Given the description of an element on the screen output the (x, y) to click on. 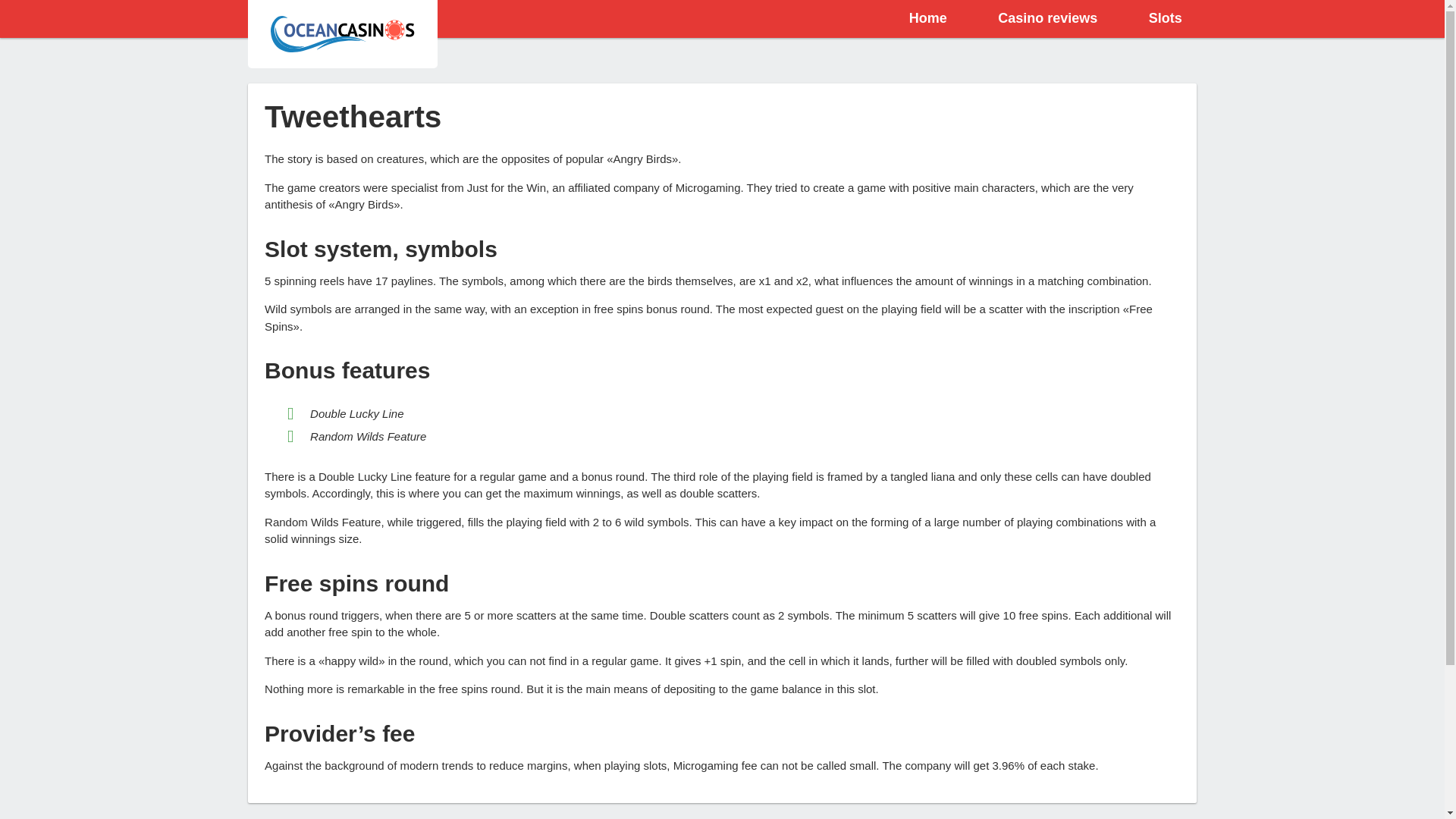
Casino reviews (1047, 18)
Home (927, 18)
Slots (1165, 18)
